Given the description of an element on the screen output the (x, y) to click on. 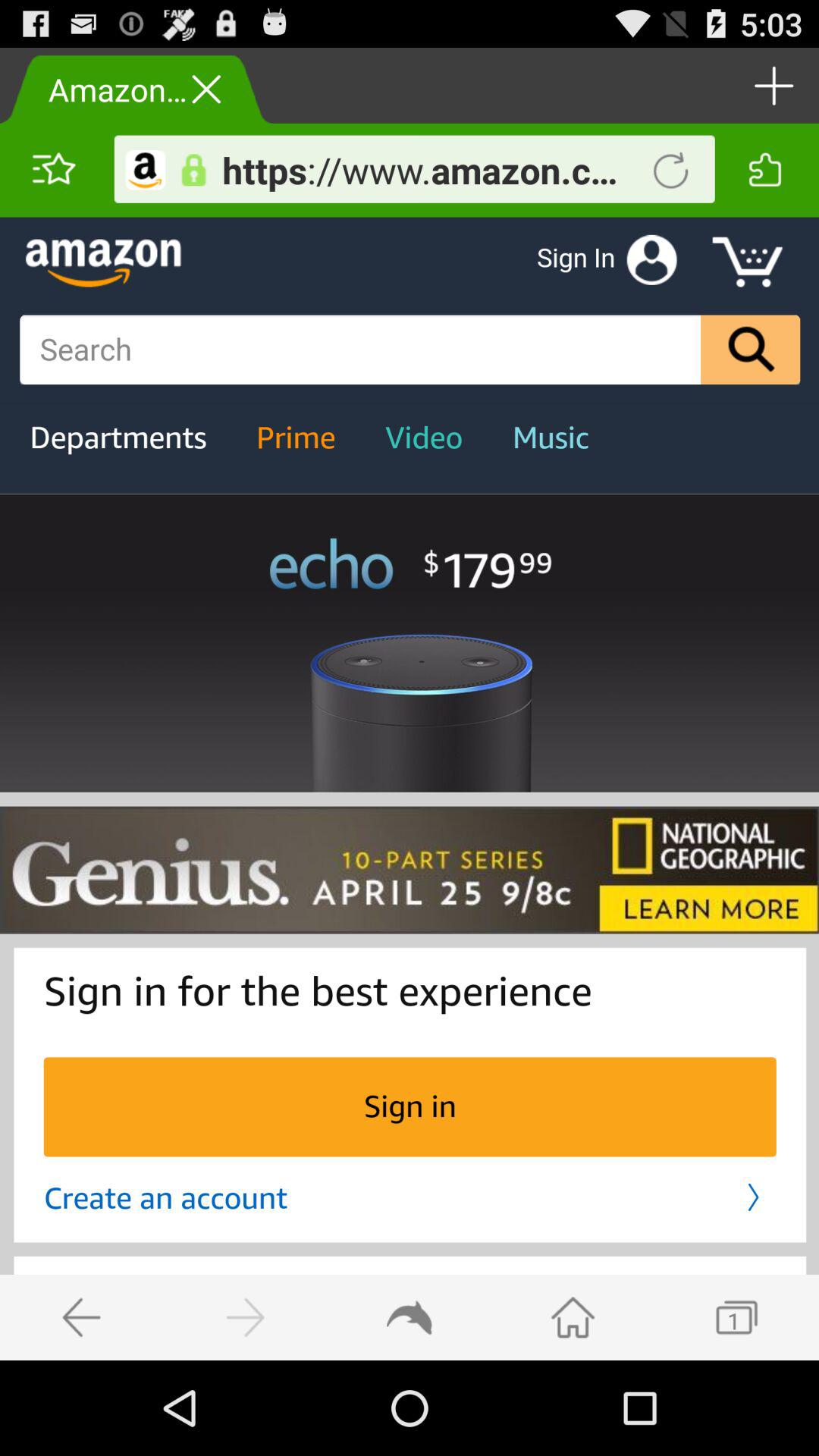
amazon option (145, 169)
